Given the description of an element on the screen output the (x, y) to click on. 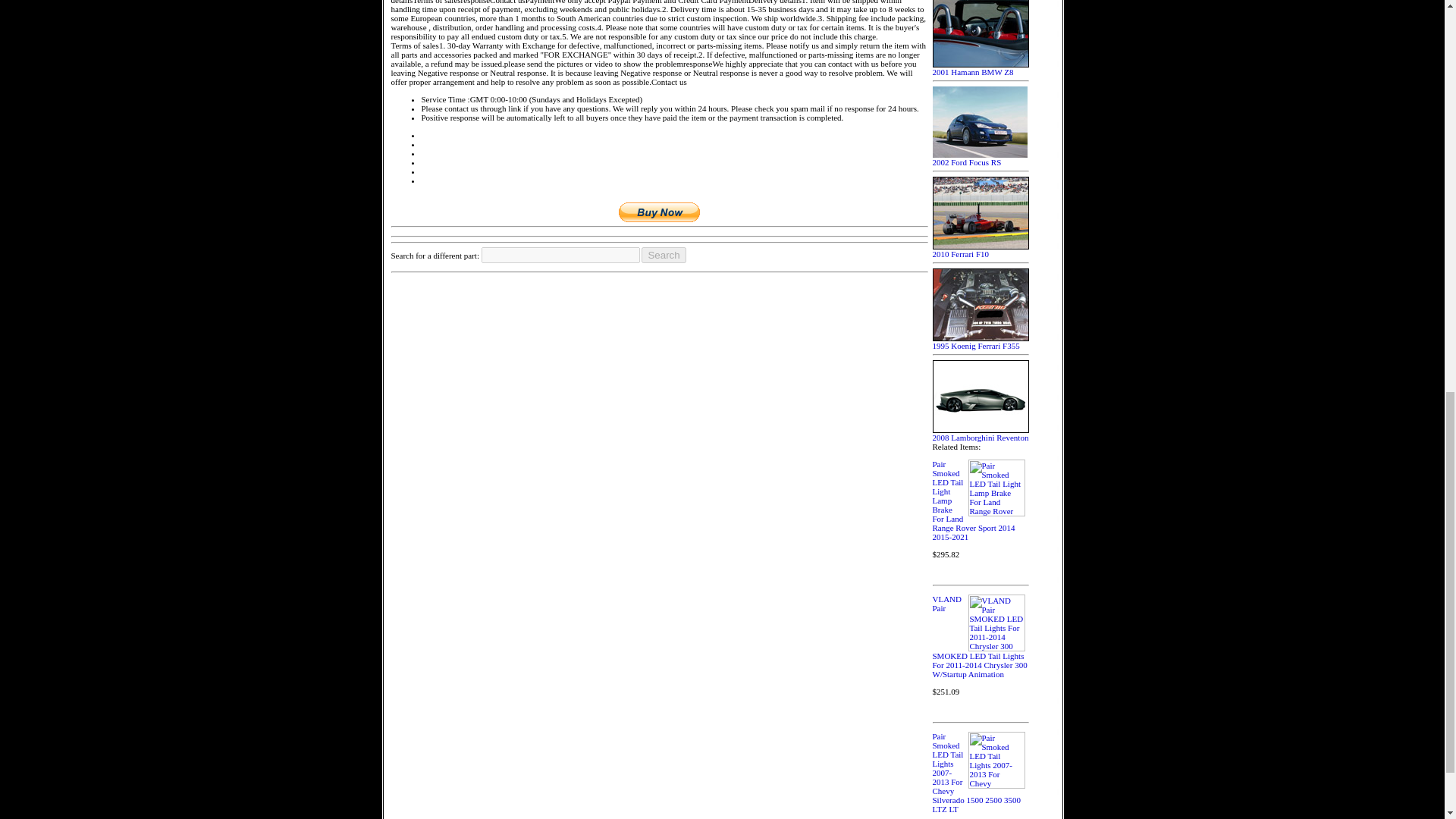
2001 Hamann BMW Z8 (981, 67)
2010 Ferrari F10 pictures (981, 249)
1995 Koenig Ferrari F355 (981, 341)
2002 Ford Focus RS (980, 158)
Search (663, 254)
2001 Hamann BMW Z8 pictures (981, 67)
2002 Ford Focus RS pictures (980, 158)
Buy Now (659, 211)
2008 Lamborghini Reventon pictures (981, 433)
